Given the description of an element on the screen output the (x, y) to click on. 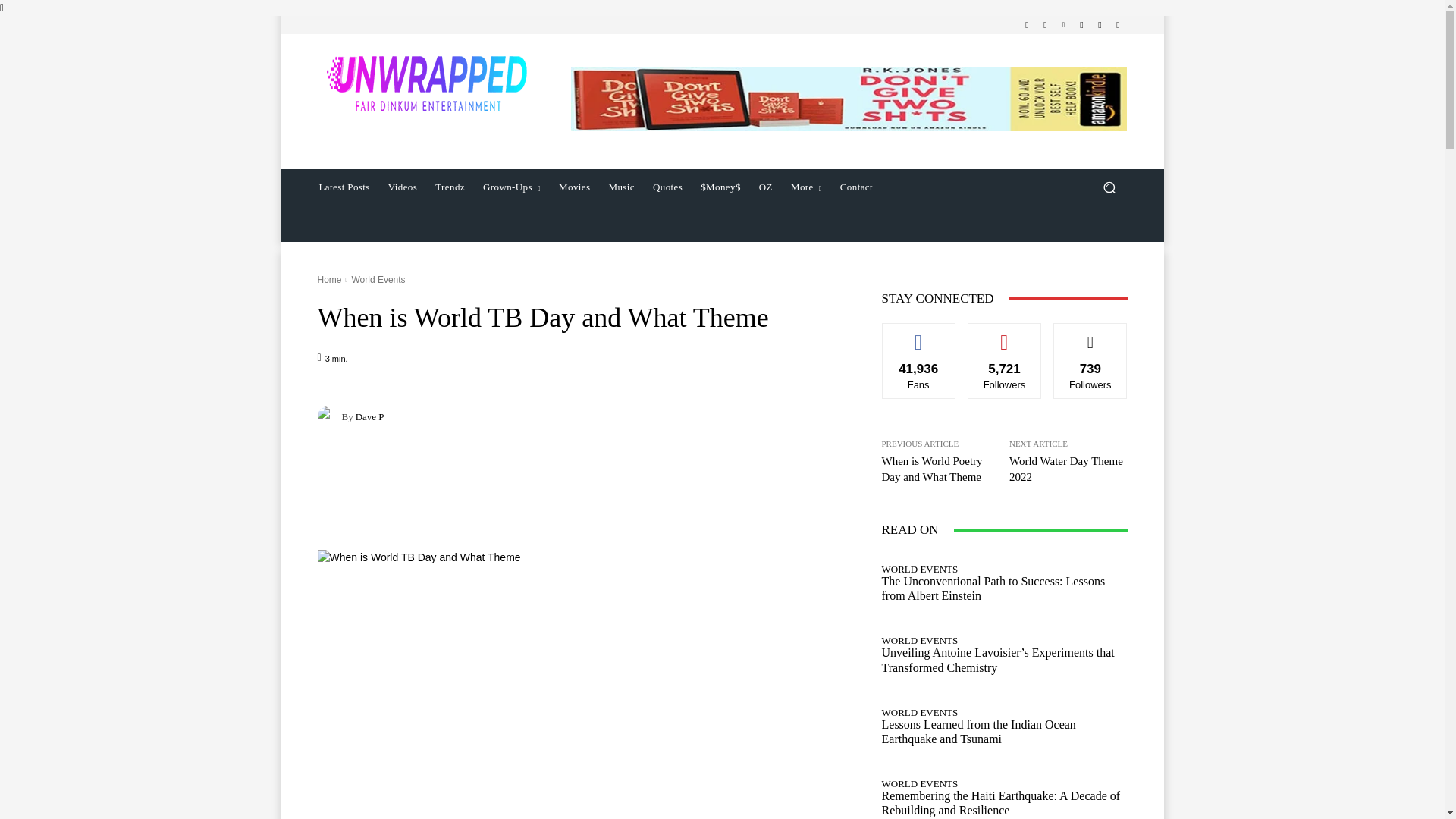
Facebook (1026, 24)
Pinterest (1062, 24)
Soundcloud (1080, 24)
Instagram (1044, 24)
Twitter (1099, 24)
Youtube (1117, 24)
